Given the description of an element on the screen output the (x, y) to click on. 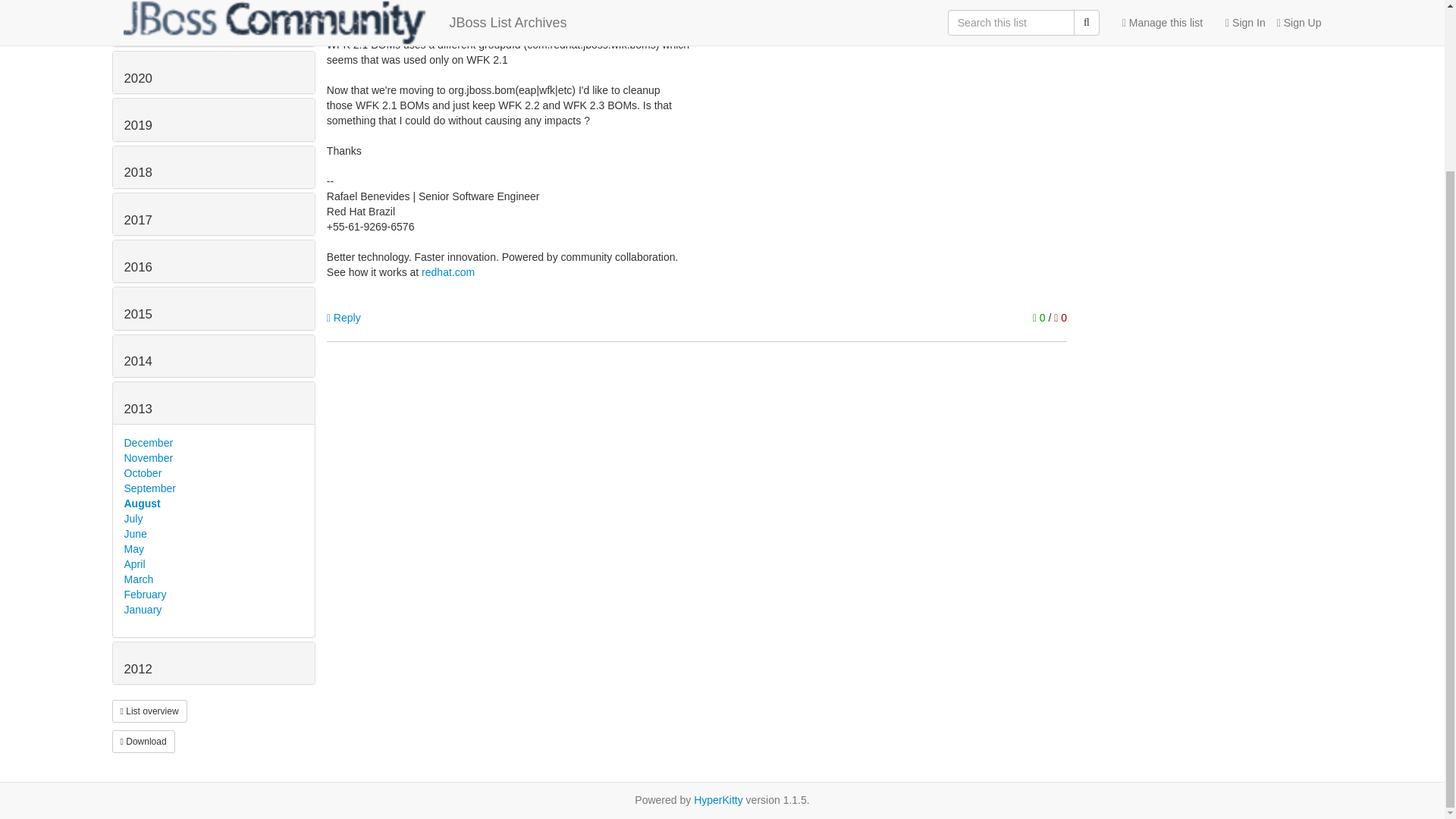
Sign in to reply online (343, 317)
You must be logged-in to vote. (1040, 317)
This message in gzipped mbox format (143, 741)
You must be logged-in to vote. (1060, 317)
